Given the description of an element on the screen output the (x, y) to click on. 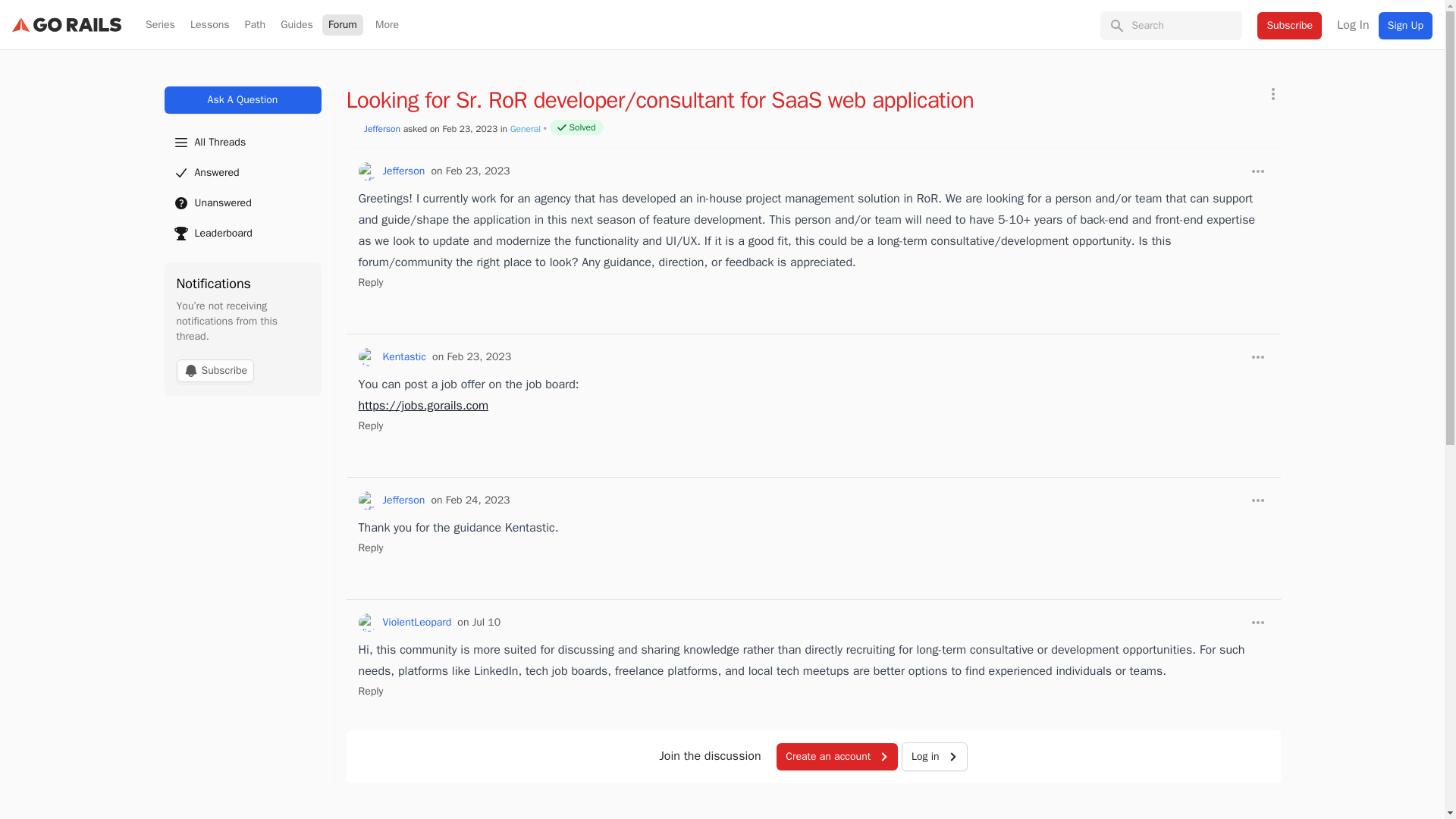
Series (159, 25)
Reply (370, 282)
GoRails (65, 24)
February 24, 2023 at 3:51am CST (469, 499)
Log In (1352, 24)
Path (254, 25)
Subscribe (214, 370)
July 10, 2024 at 9:15am CST (478, 621)
Unanswered (241, 203)
Answered (241, 172)
